Given the description of an element on the screen output the (x, y) to click on. 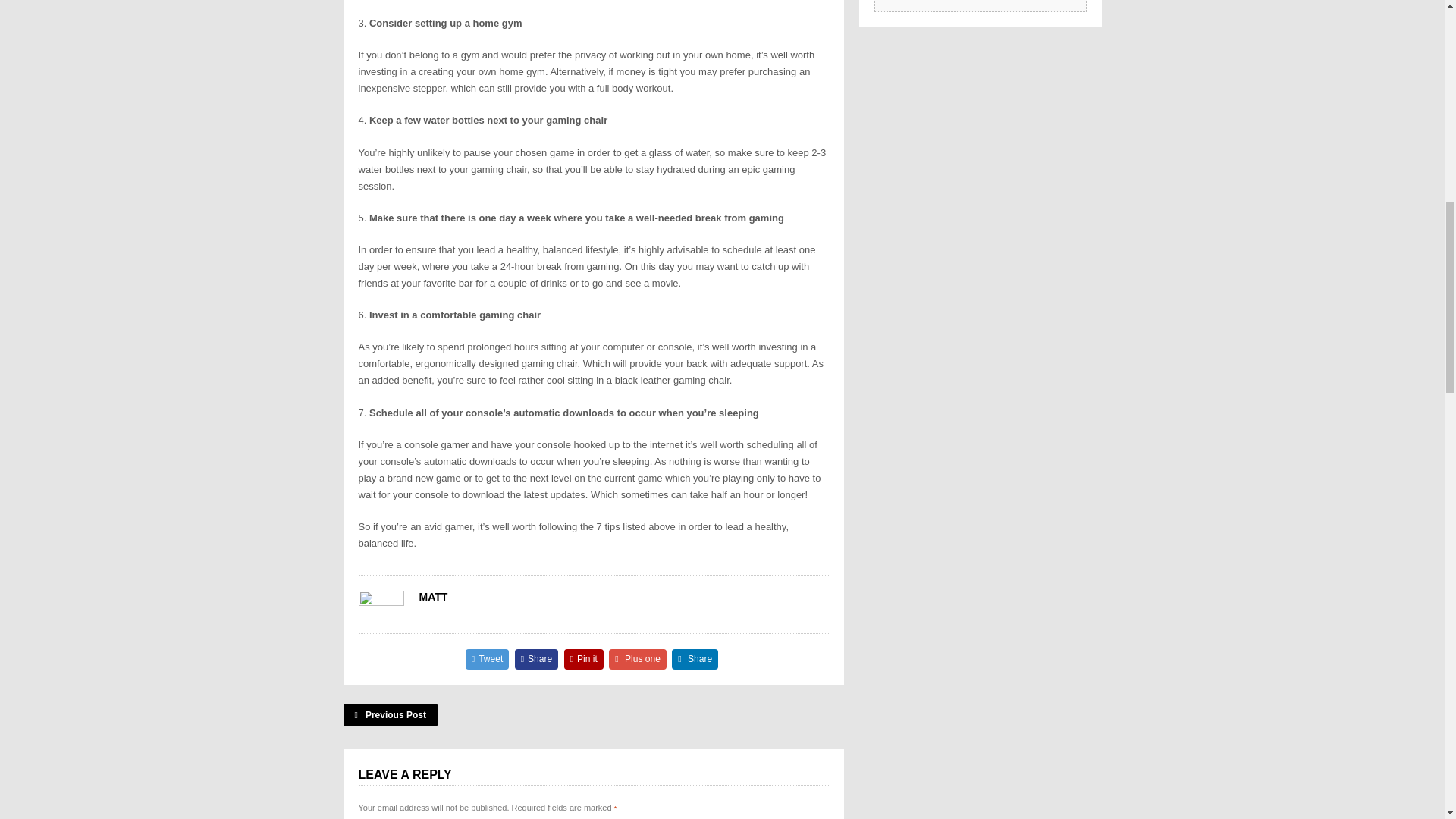
Share on Pinterest (584, 659)
Posts by Matt (432, 596)
Share on LinkedIn (694, 659)
Tweet (487, 659)
Share on Facebook (537, 659)
Share on Twitter (487, 659)
MATT (432, 596)
